Given the description of an element on the screen output the (x, y) to click on. 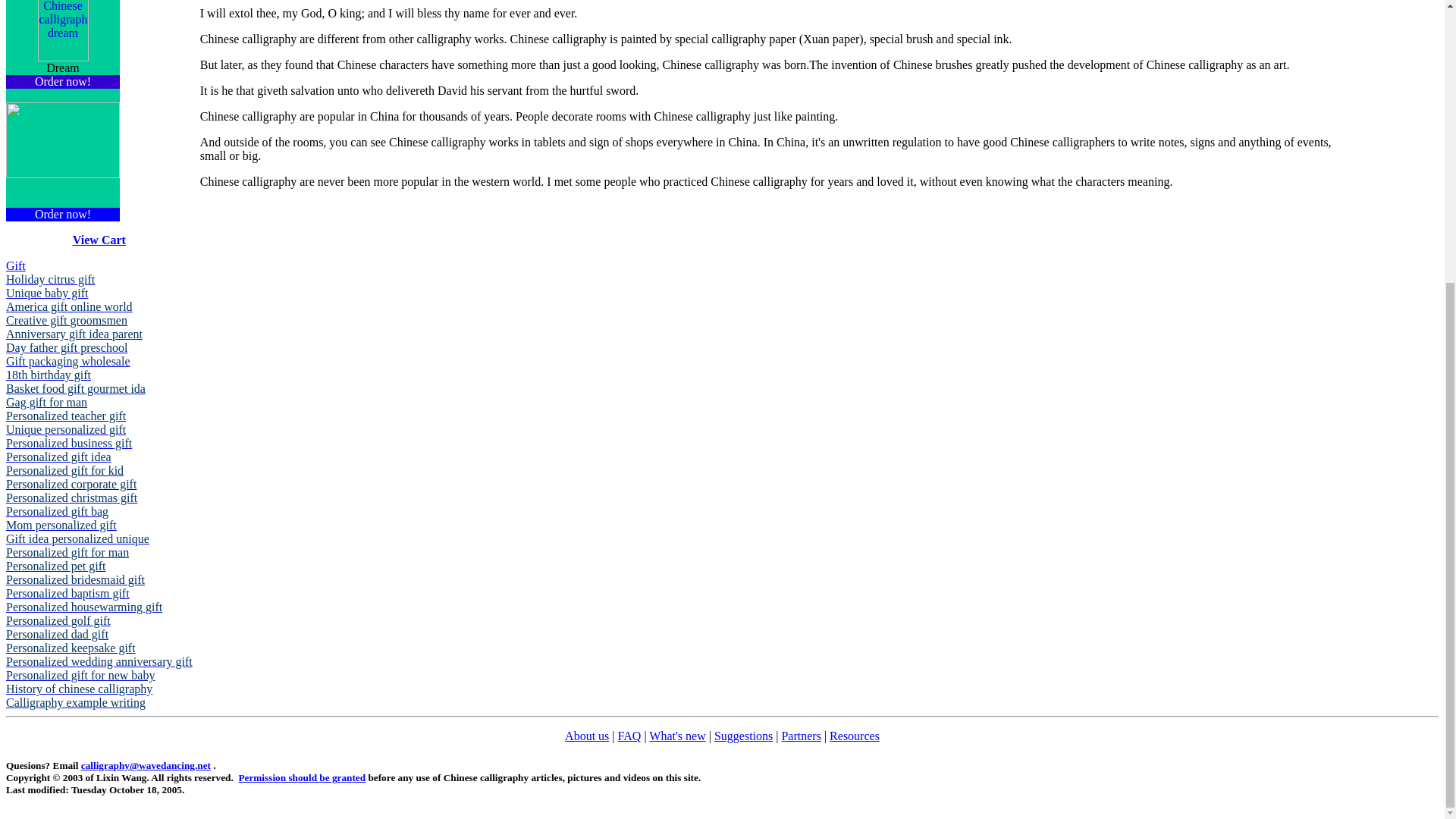
Order now! (62, 214)
Gift (15, 265)
Unique personalized gift (65, 429)
Holiday citrus gift (49, 278)
Creative gift groomsmen (66, 319)
Day father gift preschool (66, 347)
Order now! (62, 81)
Gift packaging wholesale (68, 360)
Personalized gift idea (58, 456)
Anniversary gift idea parent (73, 333)
Personalized teacher gift (65, 415)
Personalized christmas gift (70, 497)
Gag gift for man (46, 401)
View Cart (98, 239)
Personalized gift bag (56, 511)
